Given the description of an element on the screen output the (x, y) to click on. 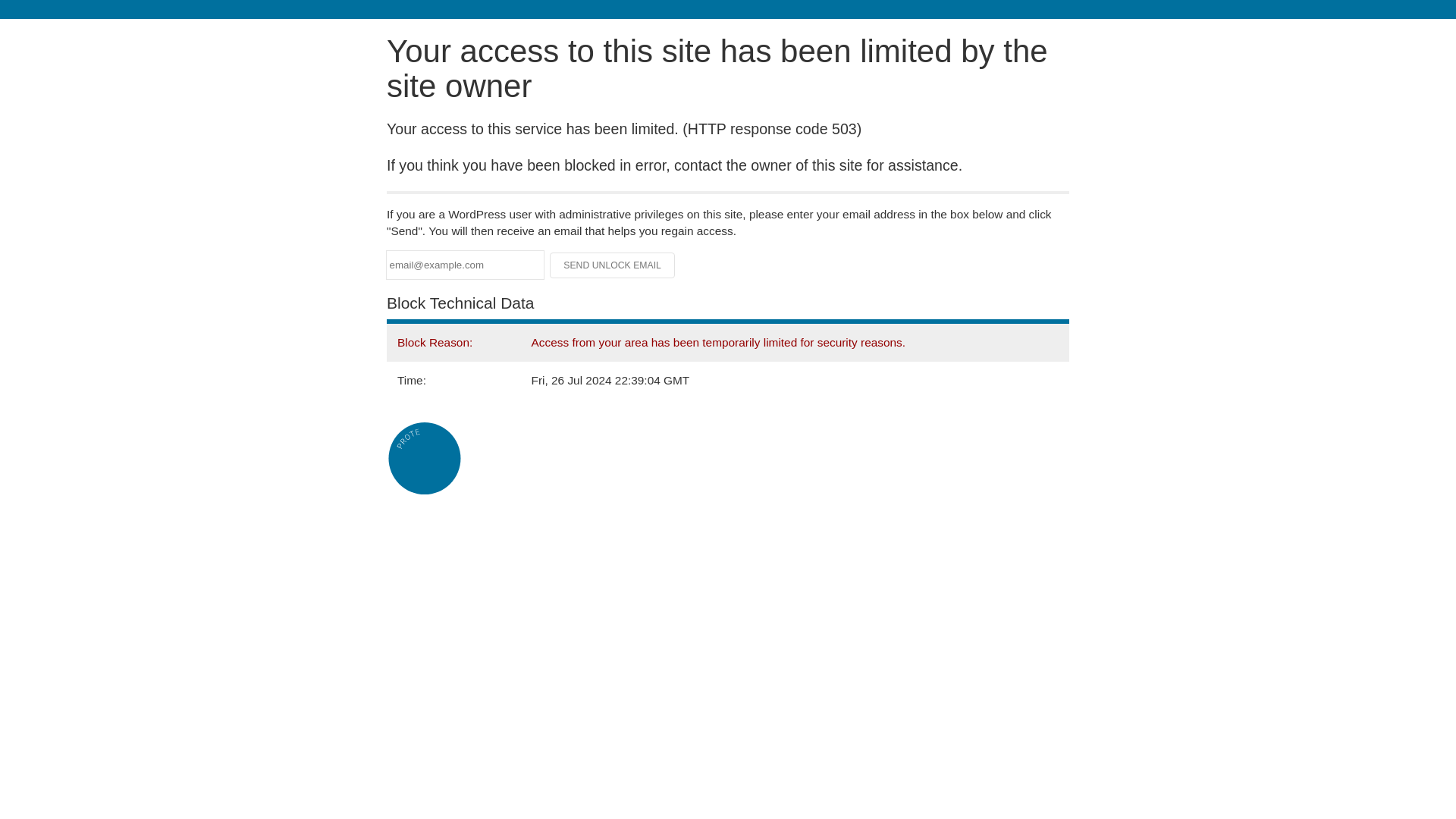
Send Unlock Email (612, 265)
Send Unlock Email (612, 265)
